Given the description of an element on the screen output the (x, y) to click on. 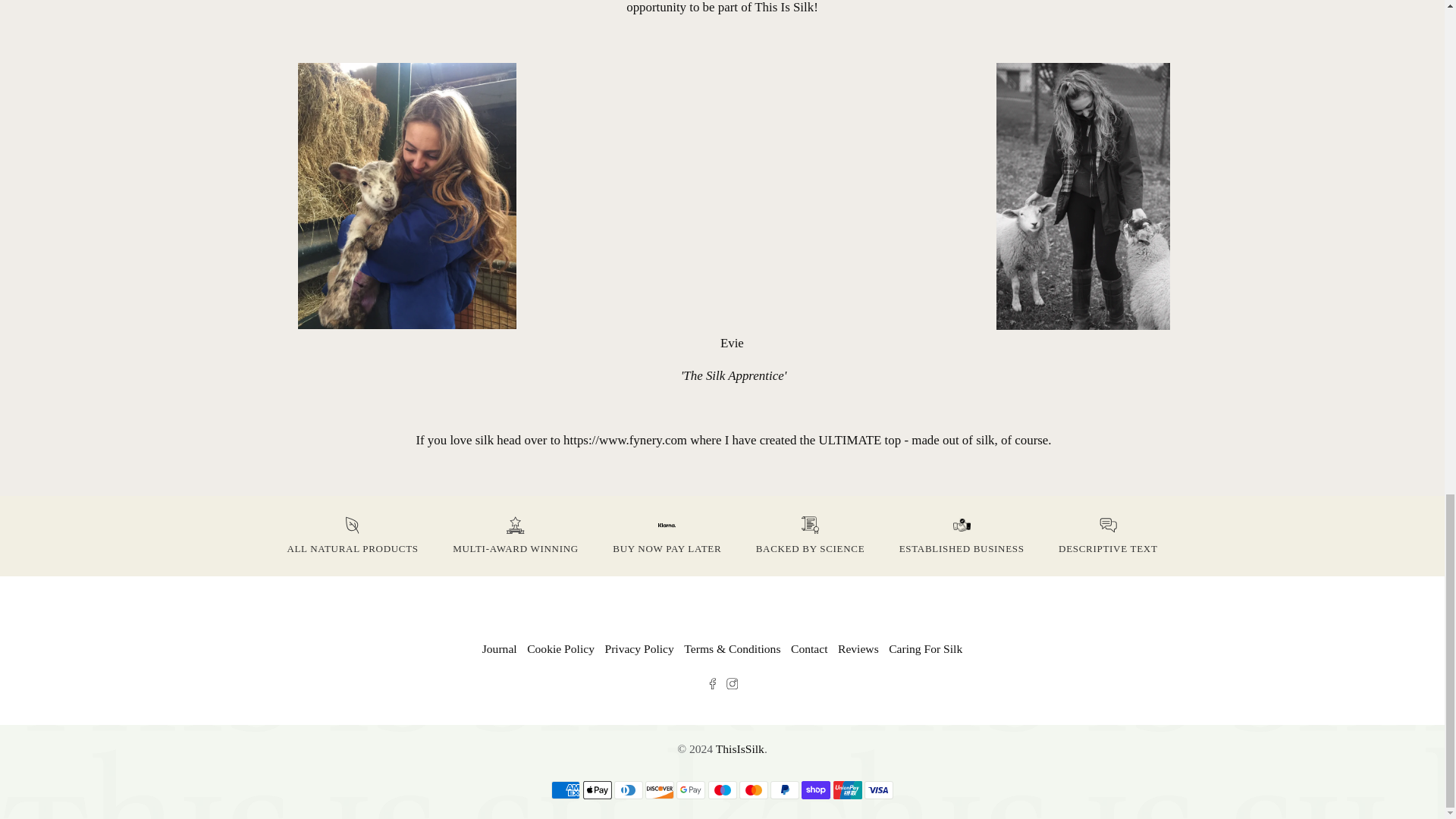
Discover (659, 790)
Mastercard (753, 790)
Google Pay (690, 790)
Apple Pay (596, 790)
American Express (565, 790)
Diners Club (628, 790)
ThisIsSilk on Instagram (732, 684)
ThisIsSilk (721, 605)
PayPal (784, 790)
Shop Pay (815, 790)
Maestro (721, 790)
ThisIsSilk on Facebook (712, 684)
